Given the description of an element on the screen output the (x, y) to click on. 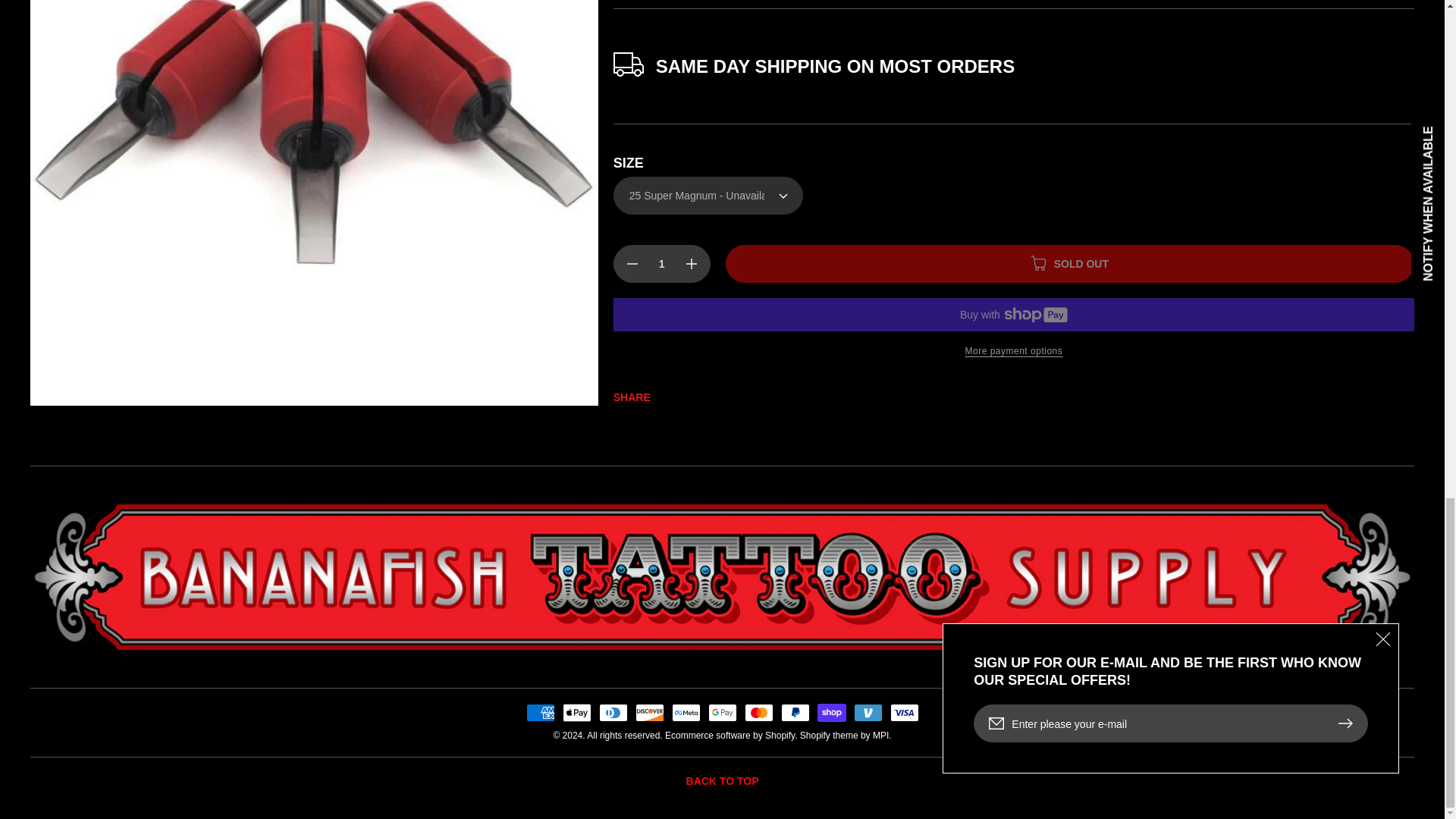
1 (661, 248)
